Given the description of an element on the screen output the (x, y) to click on. 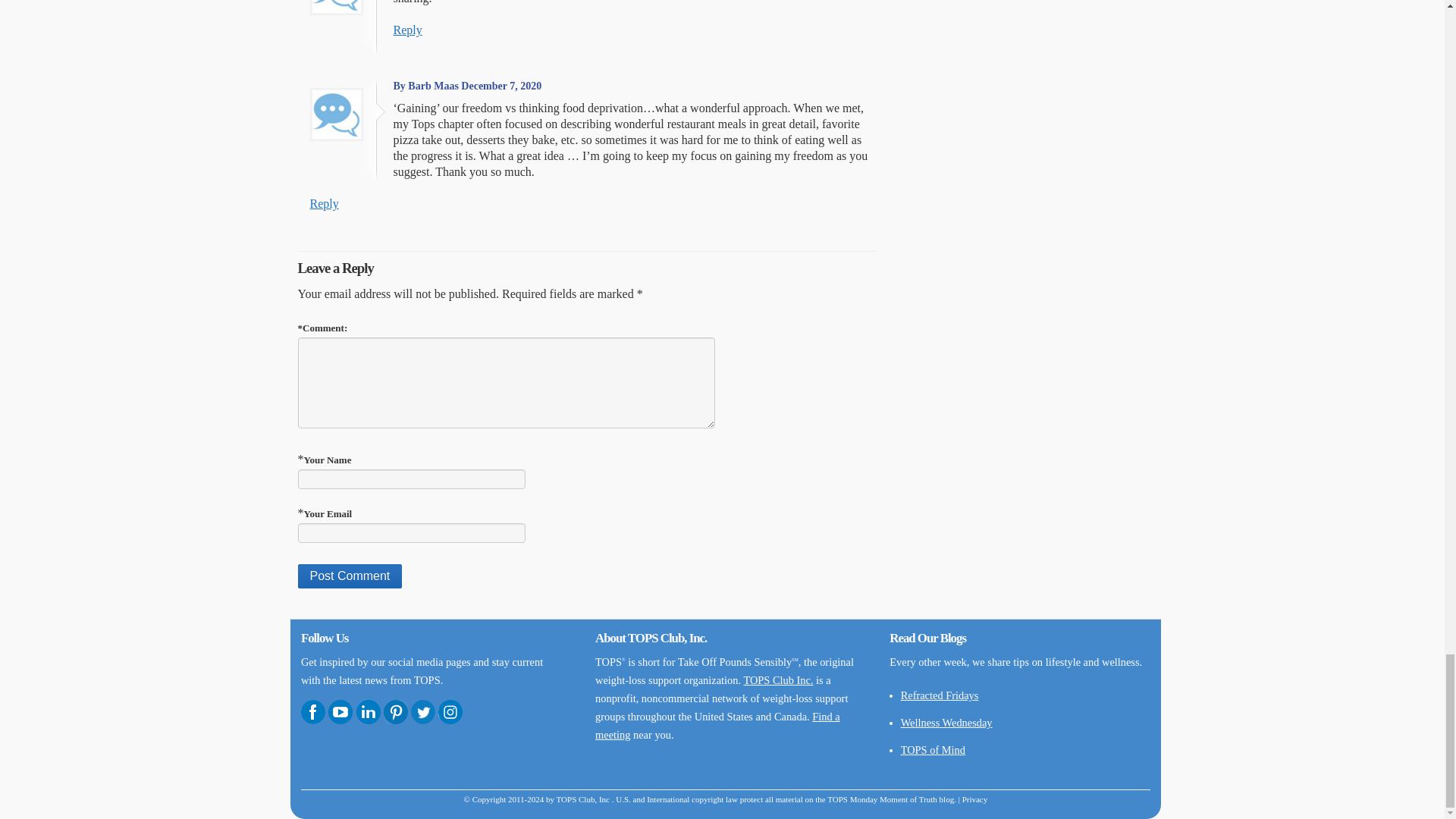
Post Comment (349, 576)
